Given the description of an element on the screen output the (x, y) to click on. 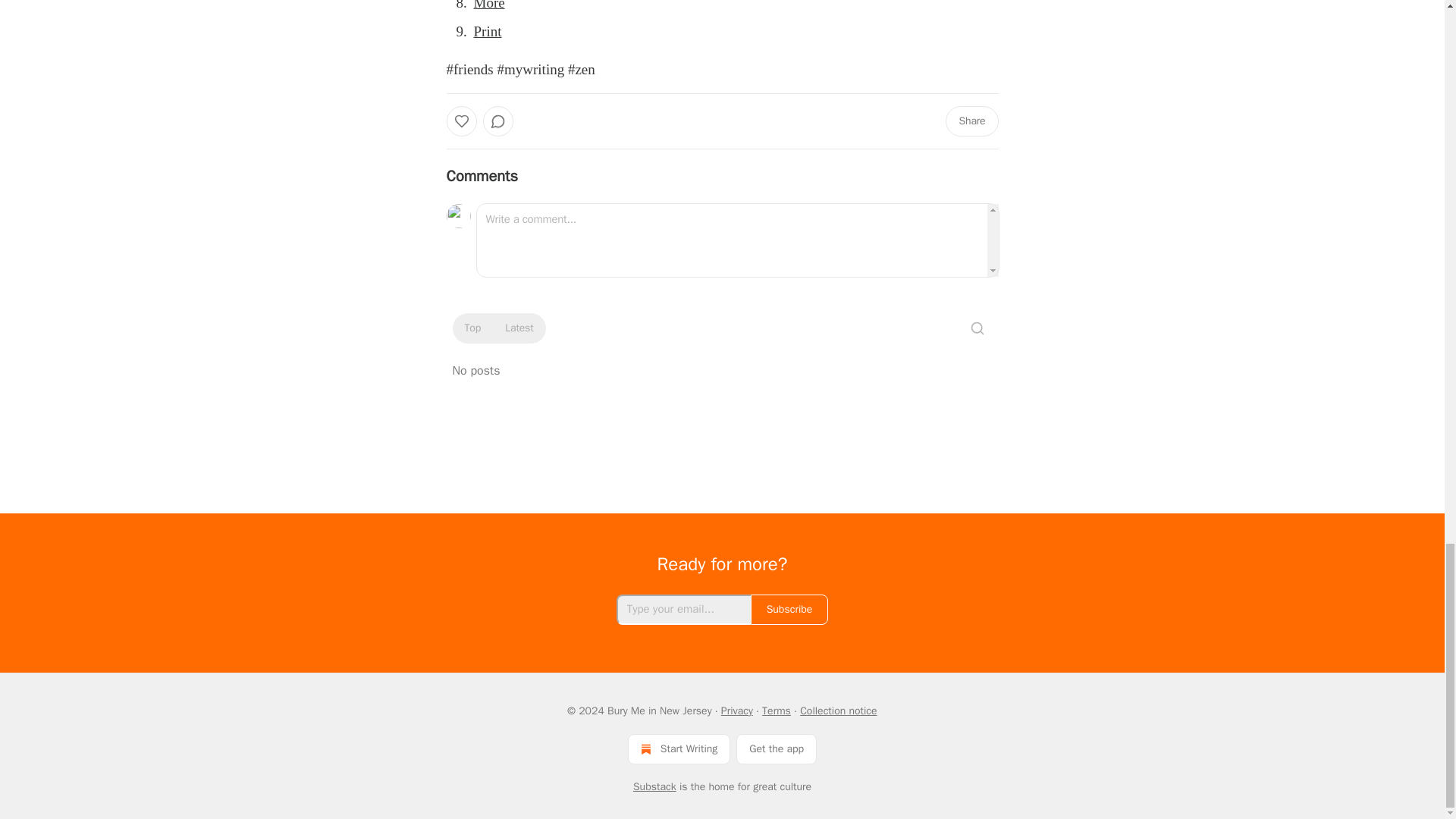
More (488, 5)
Print (486, 31)
